Given the description of an element on the screen output the (x, y) to click on. 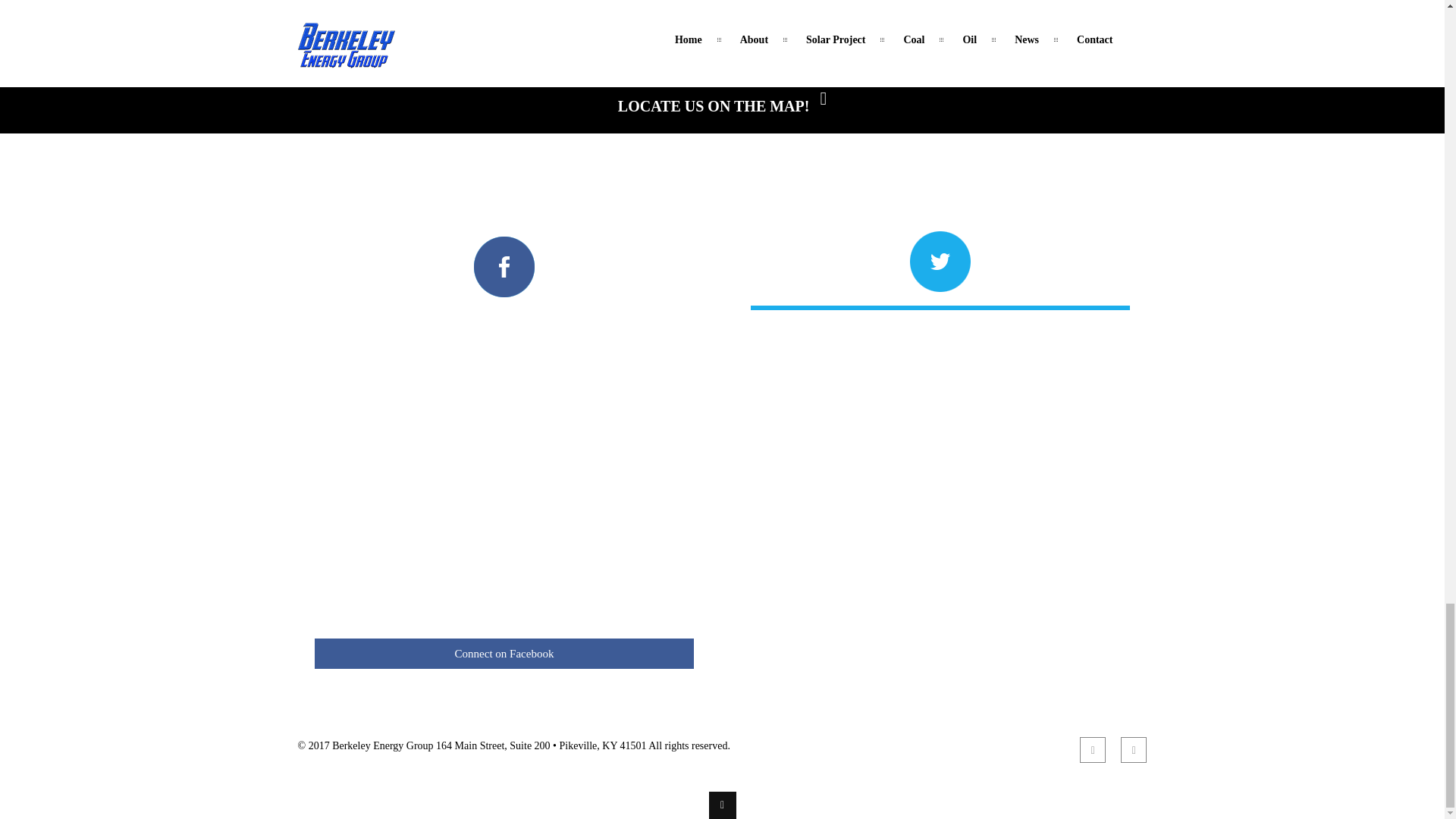
Send (1112, 8)
twitter (1134, 749)
LOCATE US ON THE MAP! (722, 105)
Send (1112, 8)
facebook (1092, 749)
Tweets by RJ Corman Railroad Company (940, 271)
Connect on Facebook (504, 653)
Follow Us on Twitter (939, 295)
